Given the description of an element on the screen output the (x, y) to click on. 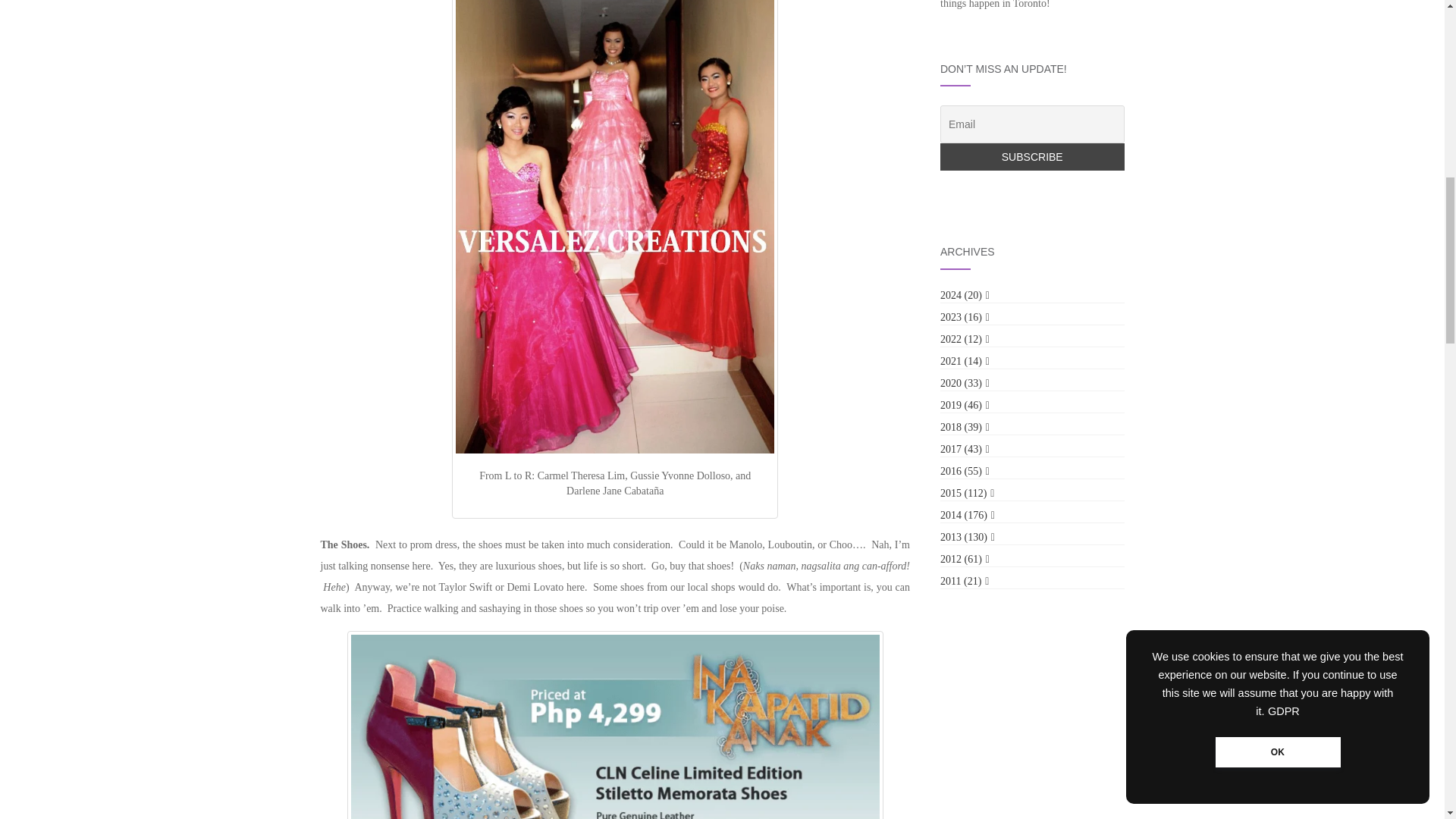
Subscribe (1032, 157)
